Given the description of an element on the screen output the (x, y) to click on. 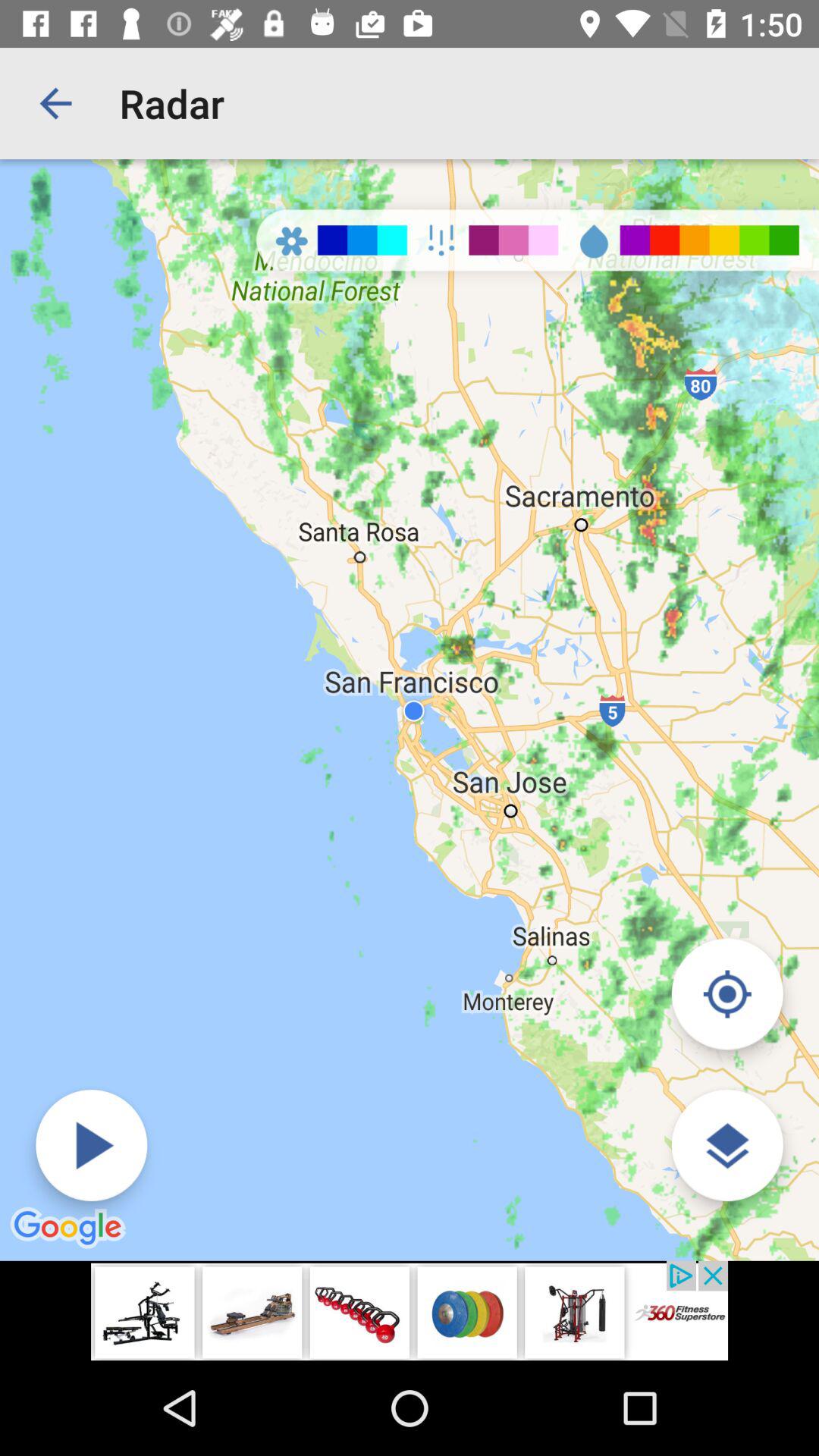
play radar (91, 1145)
